Given the description of an element on the screen output the (x, y) to click on. 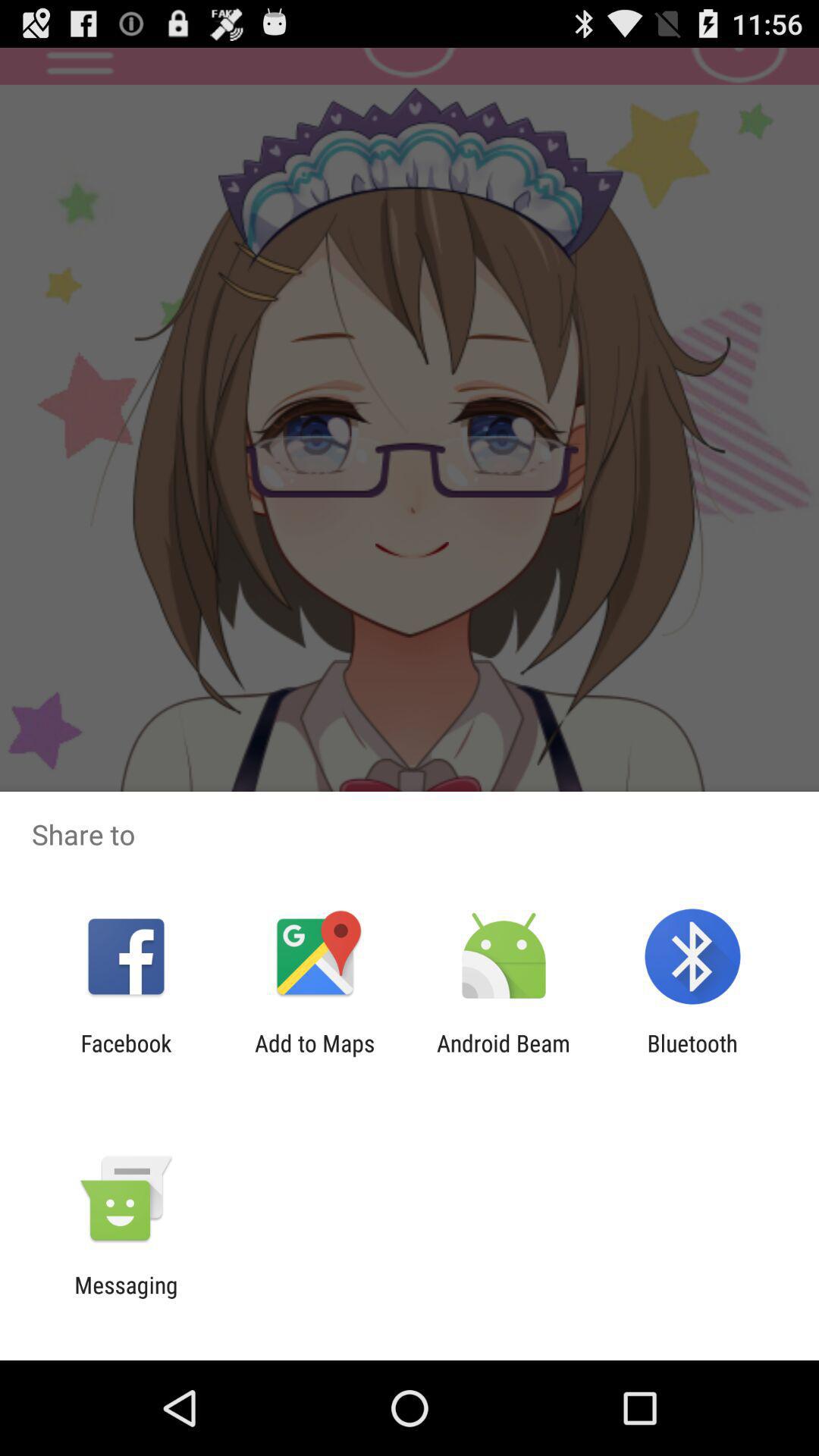
select bluetooth icon (692, 1056)
